Given the description of an element on the screen output the (x, y) to click on. 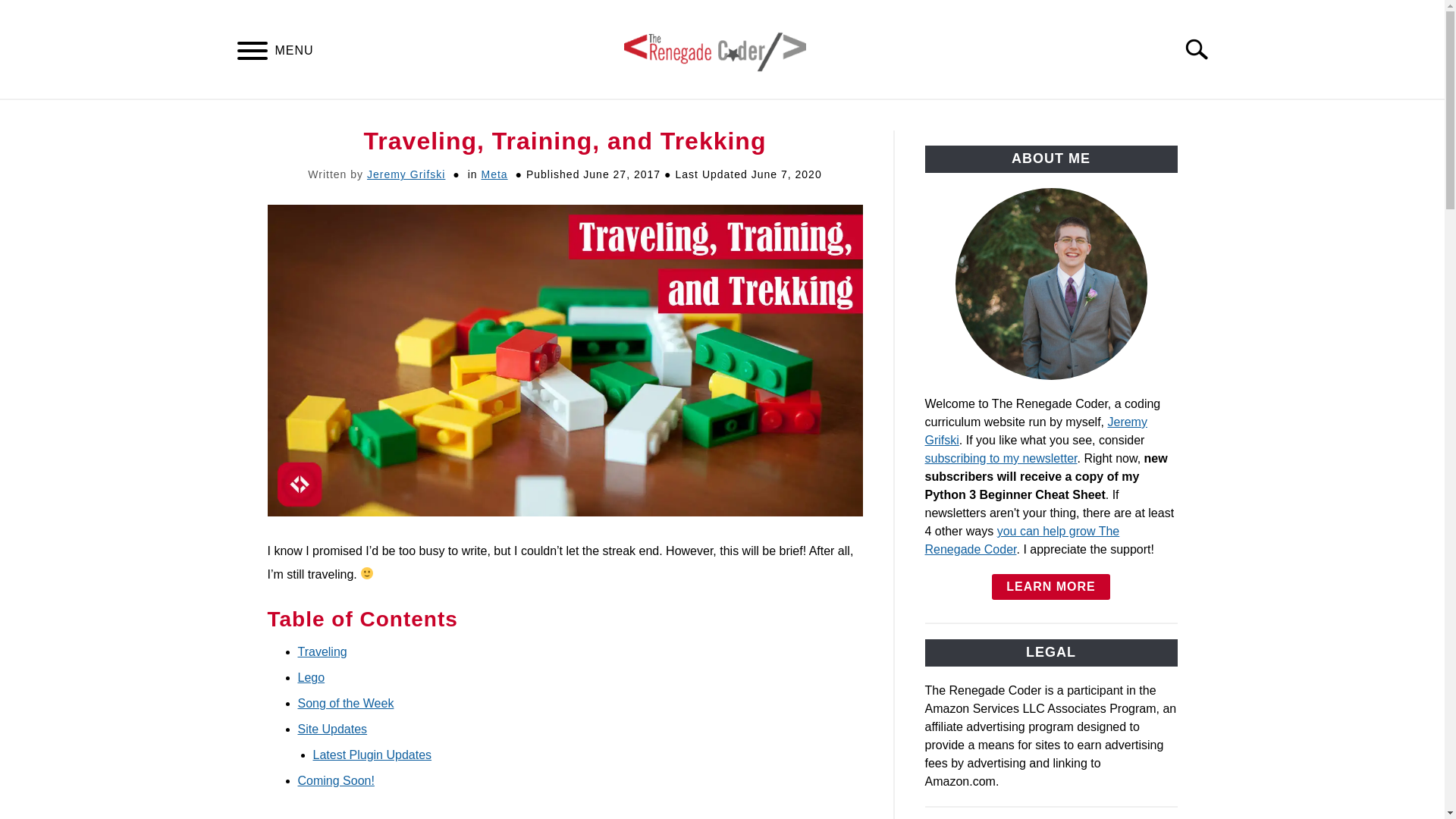
Search (1203, 49)
Song of the Week (345, 703)
Site Updates (331, 728)
MENU (251, 53)
Lego (310, 676)
Latest Plugin Updates (371, 754)
Traveling (321, 651)
Meta (493, 174)
Jeremy Grifski (405, 174)
Coming Soon! (335, 780)
